Given the description of an element on the screen output the (x, y) to click on. 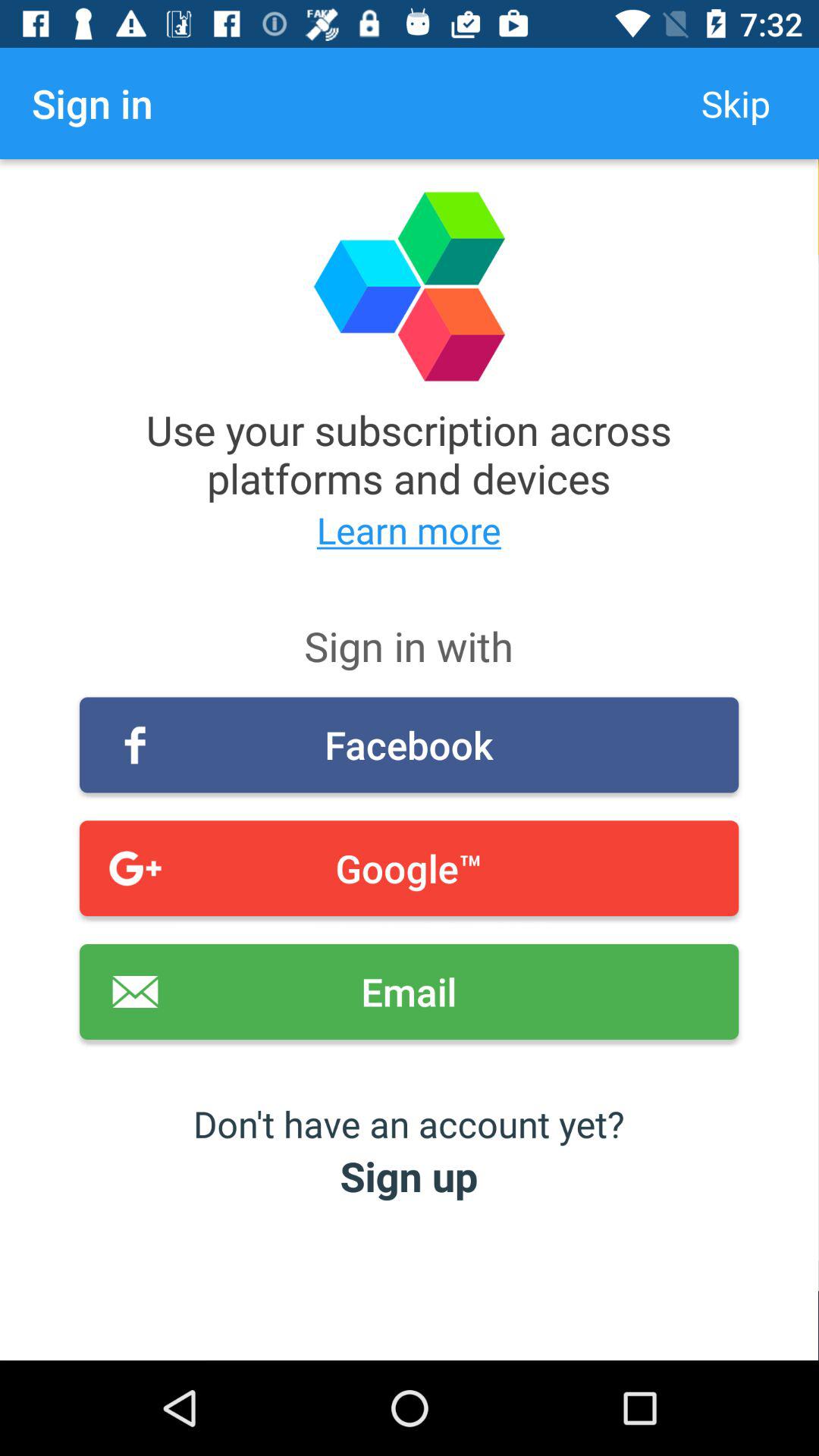
jump to learn more (408, 529)
